Given the description of an element on the screen output the (x, y) to click on. 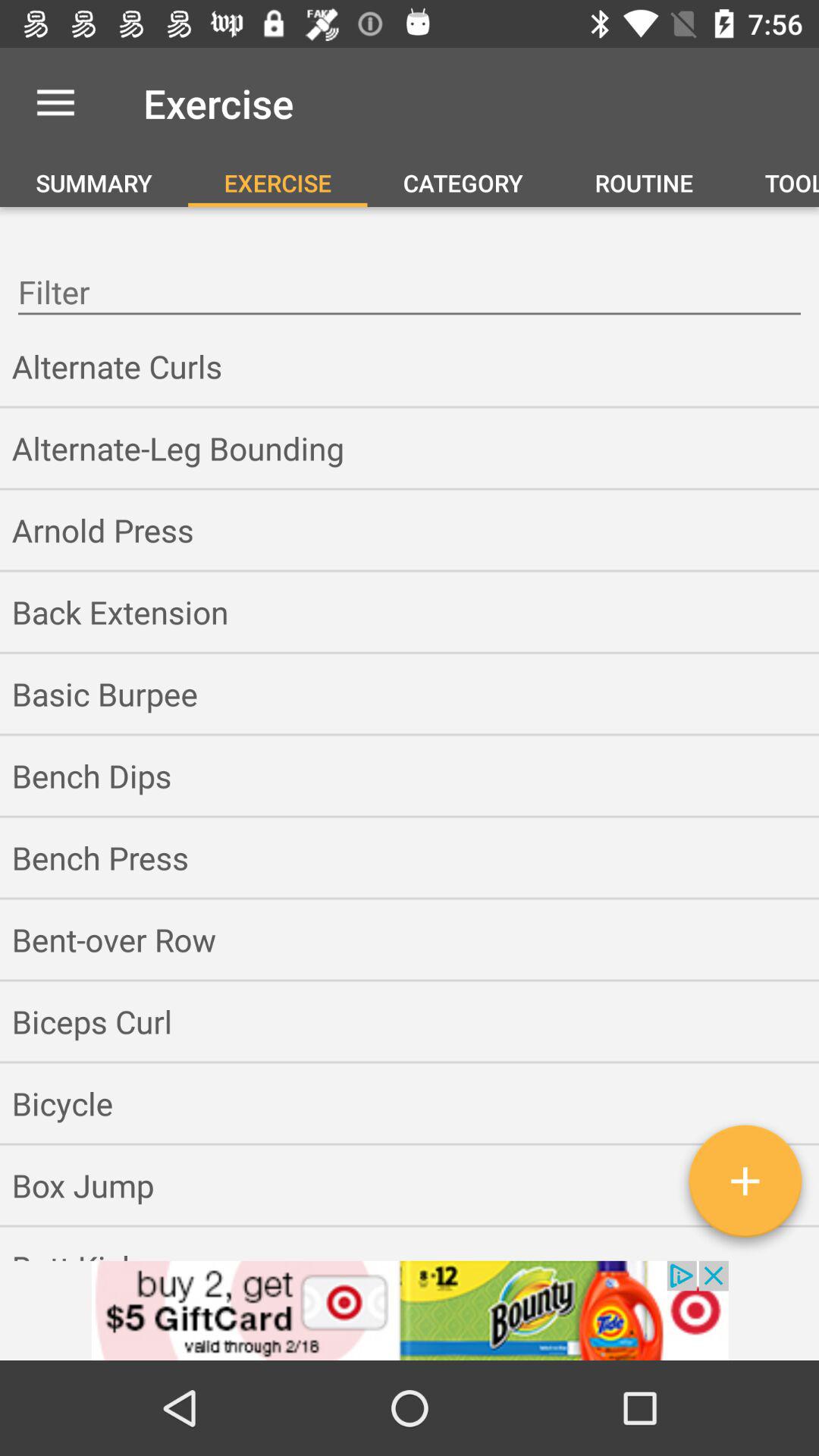
add in the apps (745, 1186)
